Given the description of an element on the screen output the (x, y) to click on. 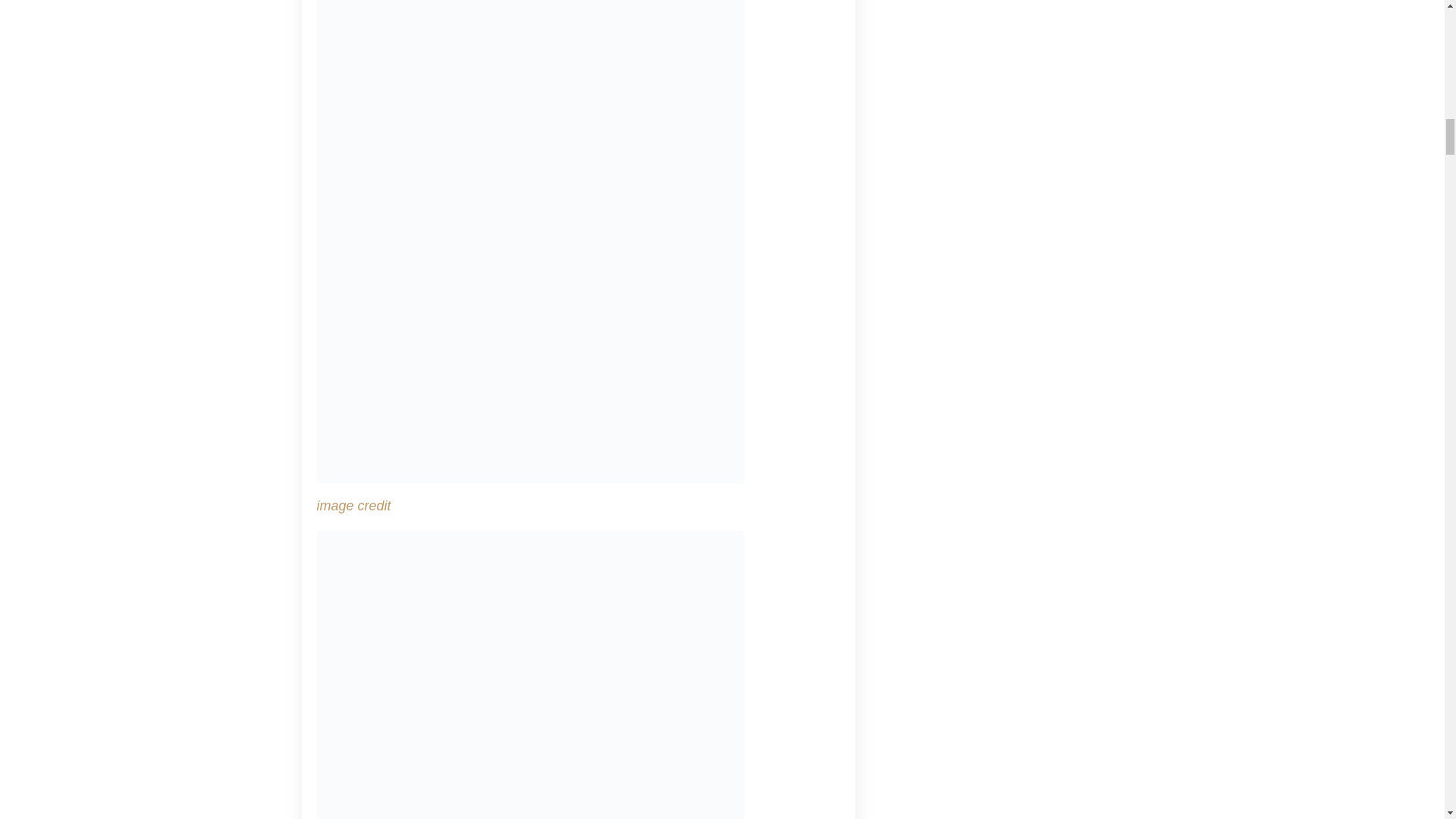
image credit (354, 505)
